Given the description of an element on the screen output the (x, y) to click on. 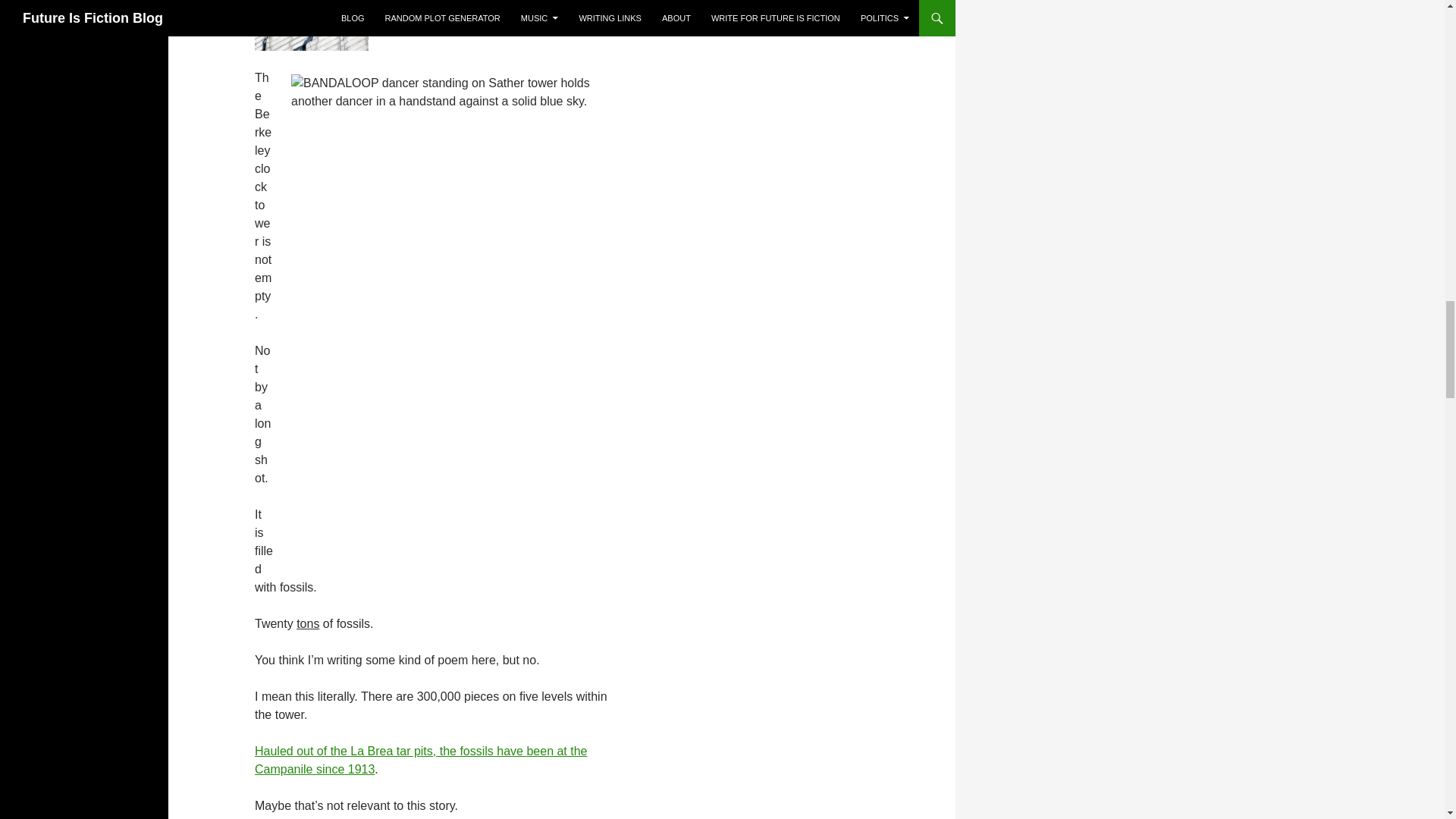
history section the Berkeley Campanile website (421, 759)
